Given the description of an element on the screen output the (x, y) to click on. 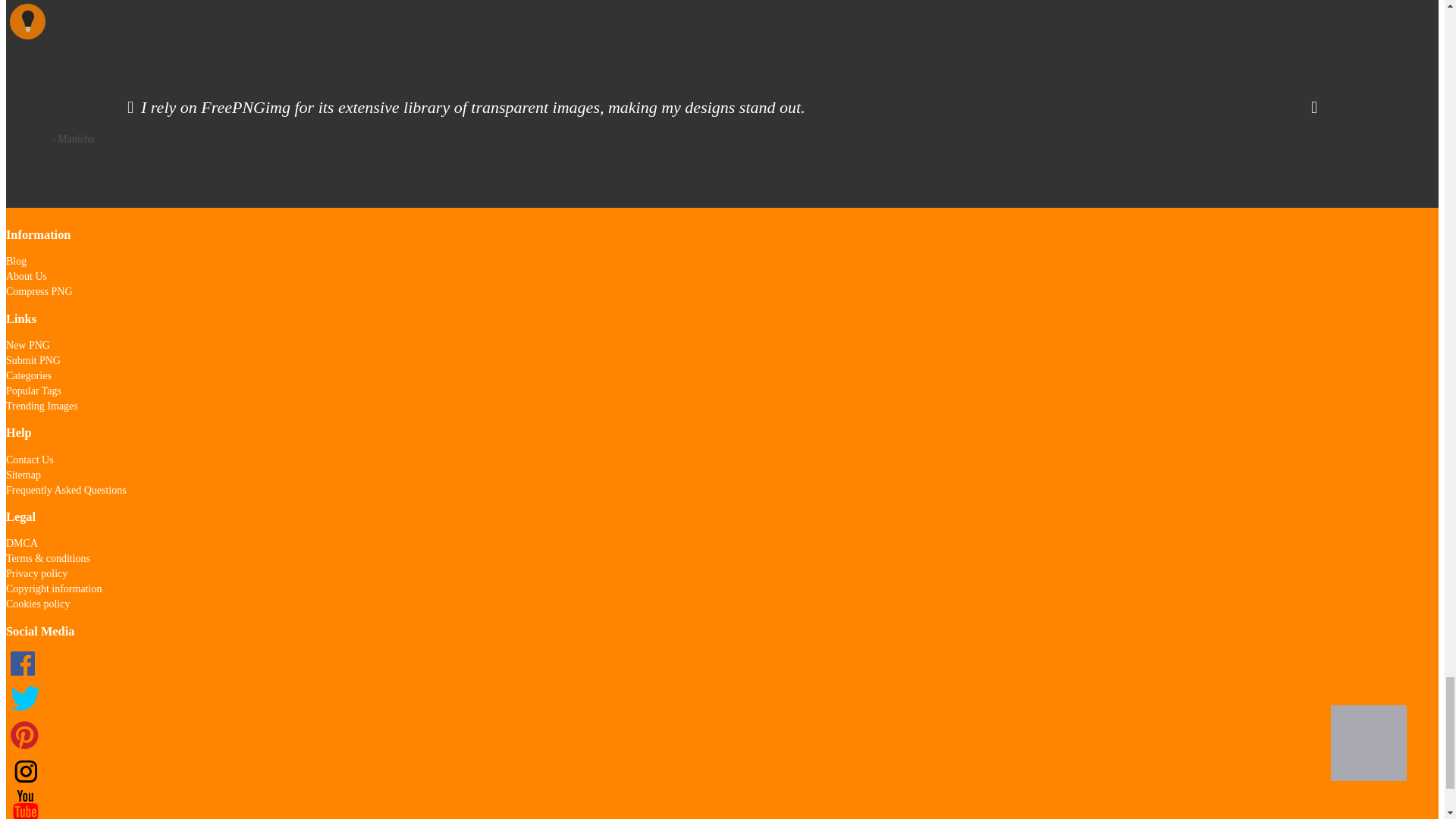
Follow FreePNGImg.com on Instagram (24, 781)
Follow FreePNGImg.com on Pinterest (24, 747)
Subscribe FreePNGImg.com on YouTube (24, 815)
Follow FreePNGImg.com on Twitter (24, 712)
Follow FreePNGImg.com on Facebook (24, 677)
